Given the description of an element on the screen output the (x, y) to click on. 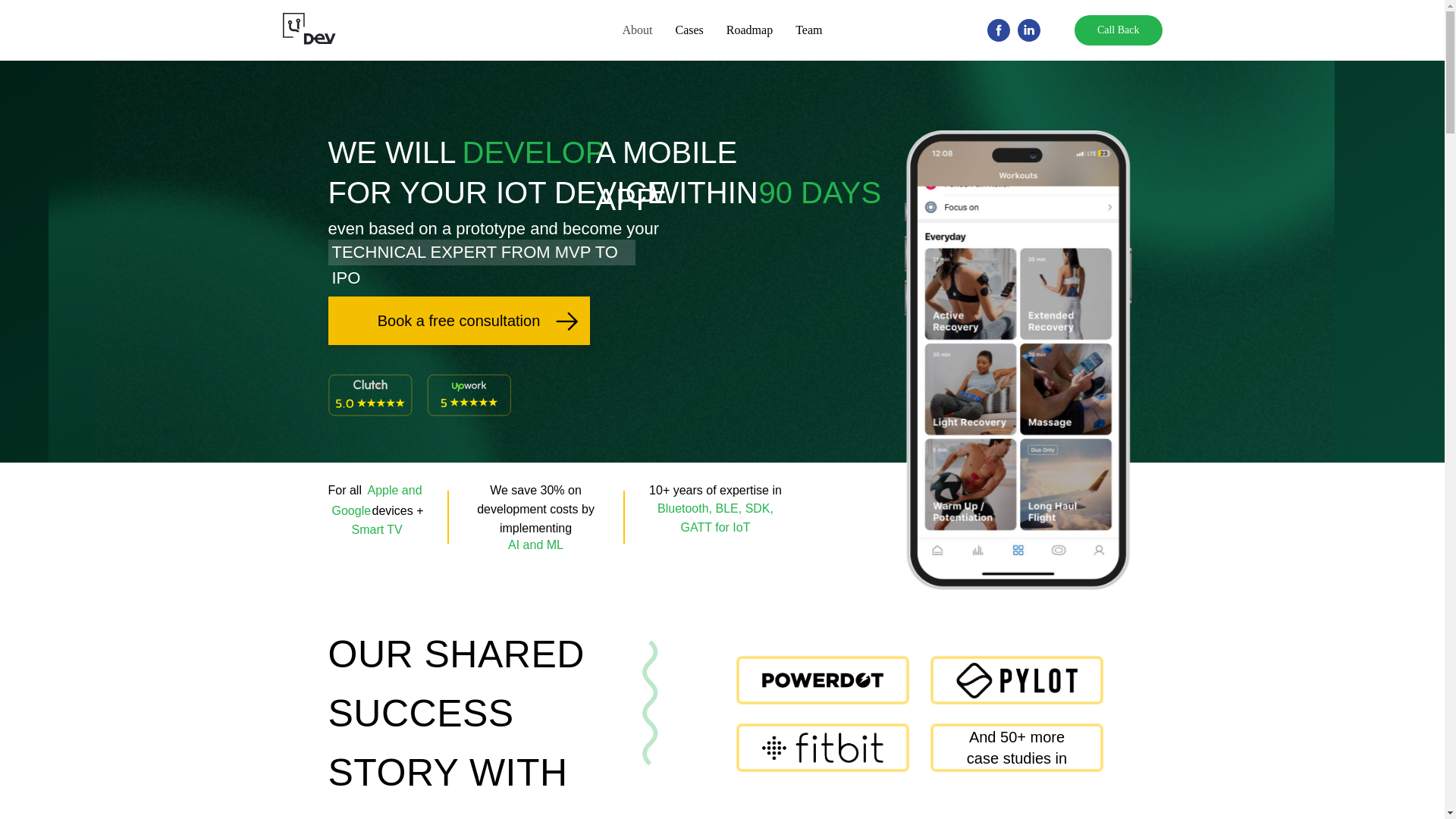
Roadmap (749, 29)
Team (808, 29)
Call Back (1117, 30)
Cases (689, 29)
About (637, 29)
Book a free consultation (458, 320)
